Given the description of an element on the screen output the (x, y) to click on. 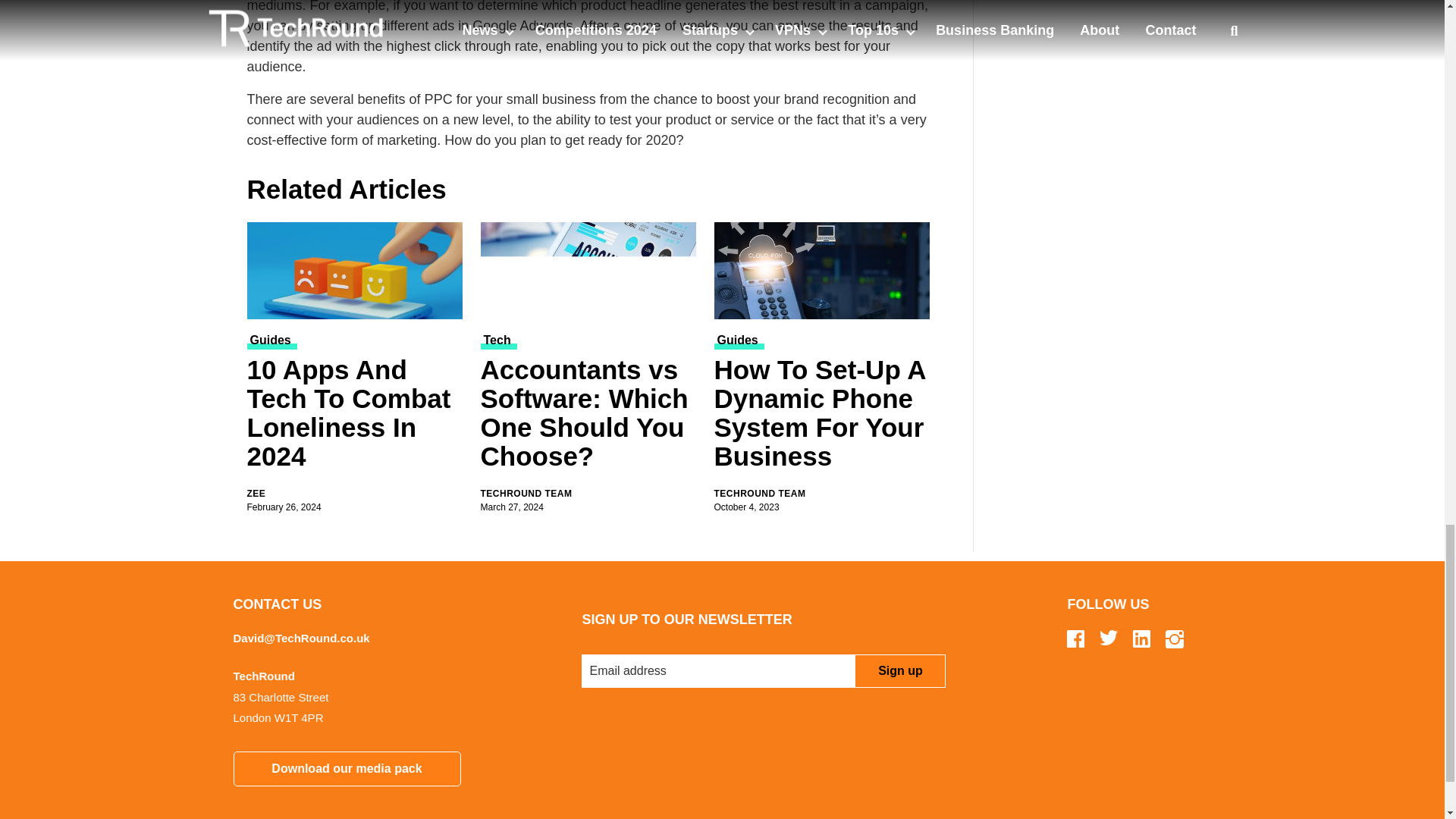
10 Apps And Tech To Combat Loneliness In 2024 (355, 415)
Accountants vs Software: Which One Should You Choose? (587, 415)
10 Apps And Tech To Combat Loneliness In 2024 (355, 270)
Sign up (899, 670)
How To Set-Up A Dynamic Phone System For Your Business (822, 415)
How To Set-Up A Dynamic Phone System For Your Business (822, 270)
Enter The BAME Top 50 Entrepreneurs - Deadline 10th Nov 2021 (1107, 17)
Accountants vs Software: Which One Should You Choose? (587, 270)
